Given the description of an element on the screen output the (x, y) to click on. 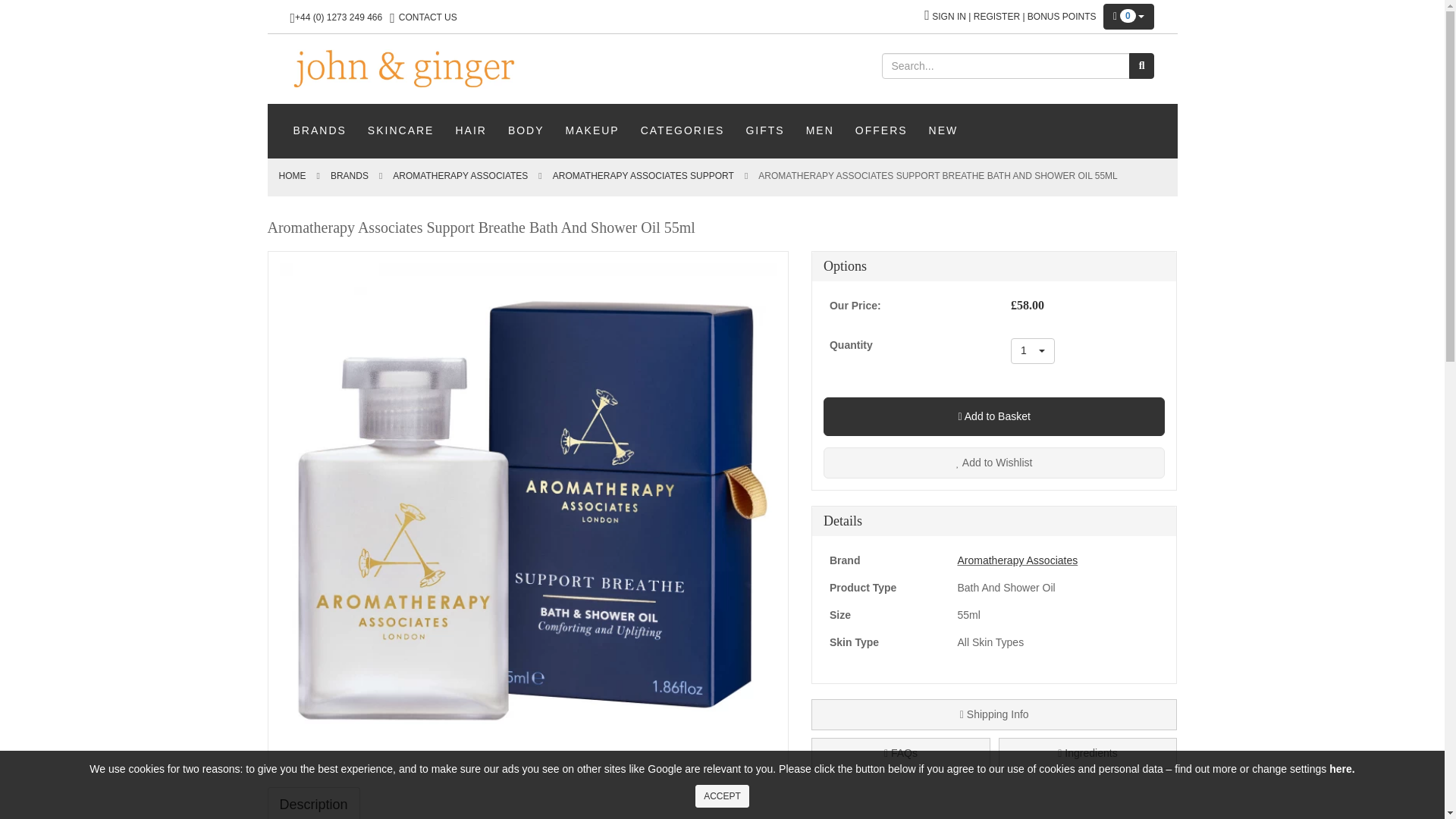
BRANDS (319, 130)
AROMATHERAPY ASSOCIATES SUPPORT (643, 175)
CONTACT US (427, 17)
MAKEUP (592, 130)
AROMATHERAPY ASSOCIATES (1032, 350)
Accept (460, 175)
SKINCARE (722, 795)
ACCEPT (400, 130)
GIFTS (722, 795)
Aromatherapy Associates Support (764, 130)
Aromatherapy Associates Support Breathe Bath And Shower Oil (643, 175)
1 (402, 68)
BRANDS (1032, 350)
